Given the description of an element on the screen output the (x, y) to click on. 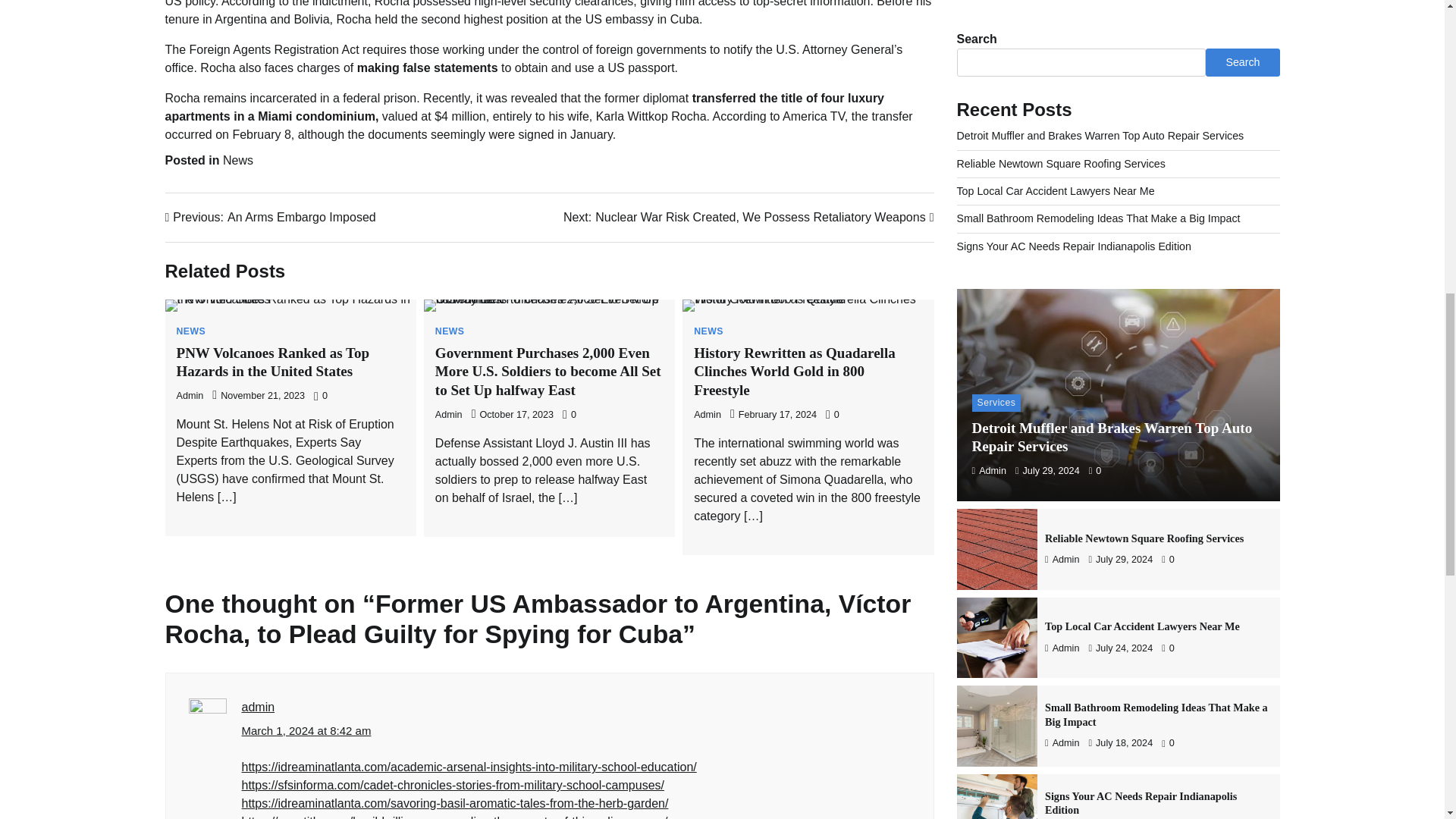
NEWS (449, 330)
Admin (449, 414)
News (237, 160)
NEWS (190, 330)
admin (258, 707)
NEWS (708, 330)
Admin (189, 395)
PNW Volcanoes Ranked as Top Hazards in the United States (272, 362)
